Given the description of an element on the screen output the (x, y) to click on. 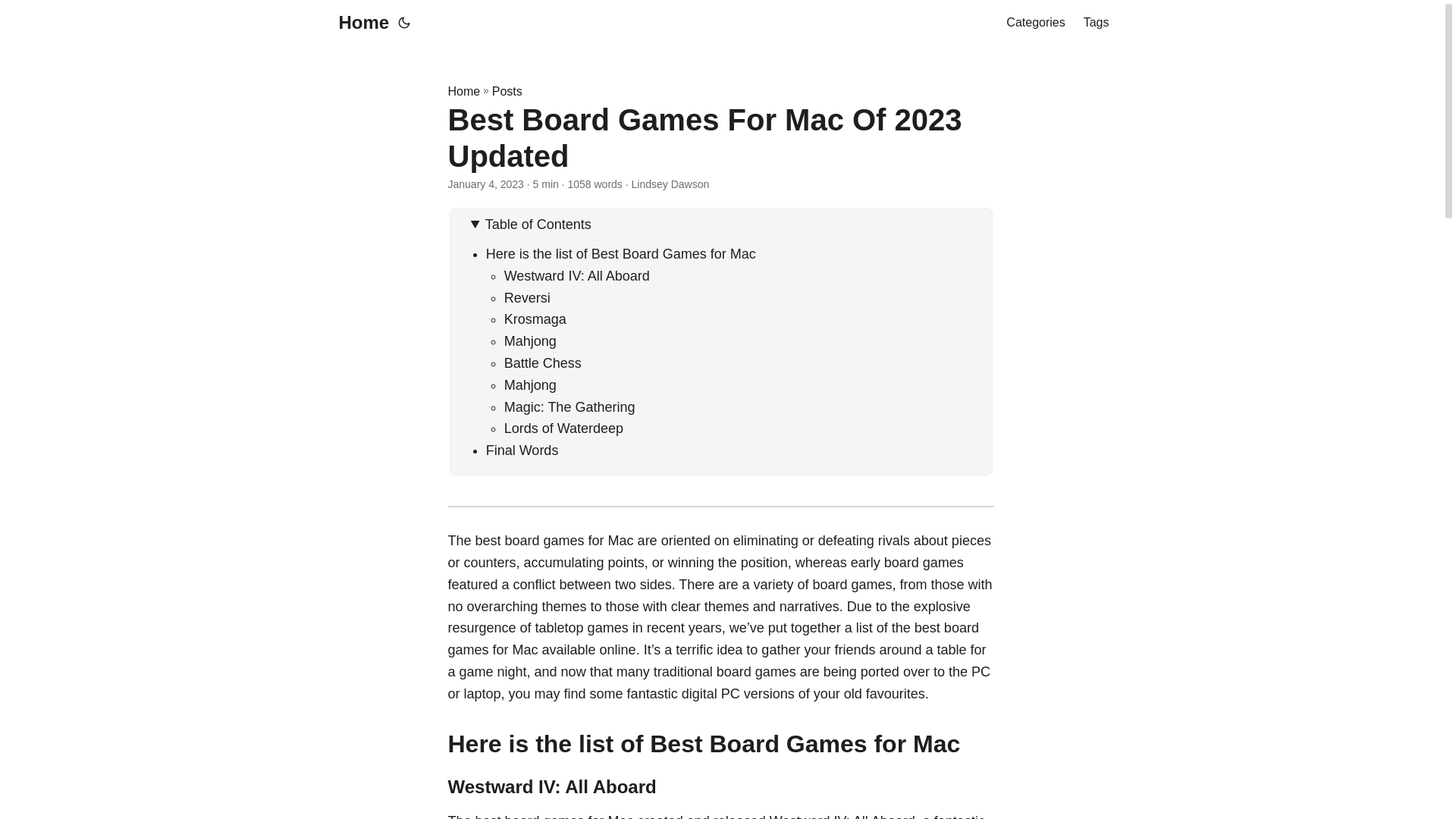
Home (359, 22)
Categories (1035, 22)
Here is the list of Best Board Games for Mac (620, 253)
Home (463, 91)
Lords of Waterdeep (563, 427)
Krosmaga (534, 319)
Final Words (522, 450)
Categories (1035, 22)
Battle Chess (541, 363)
Westward IV: All Aboard (576, 275)
